Given the description of an element on the screen output the (x, y) to click on. 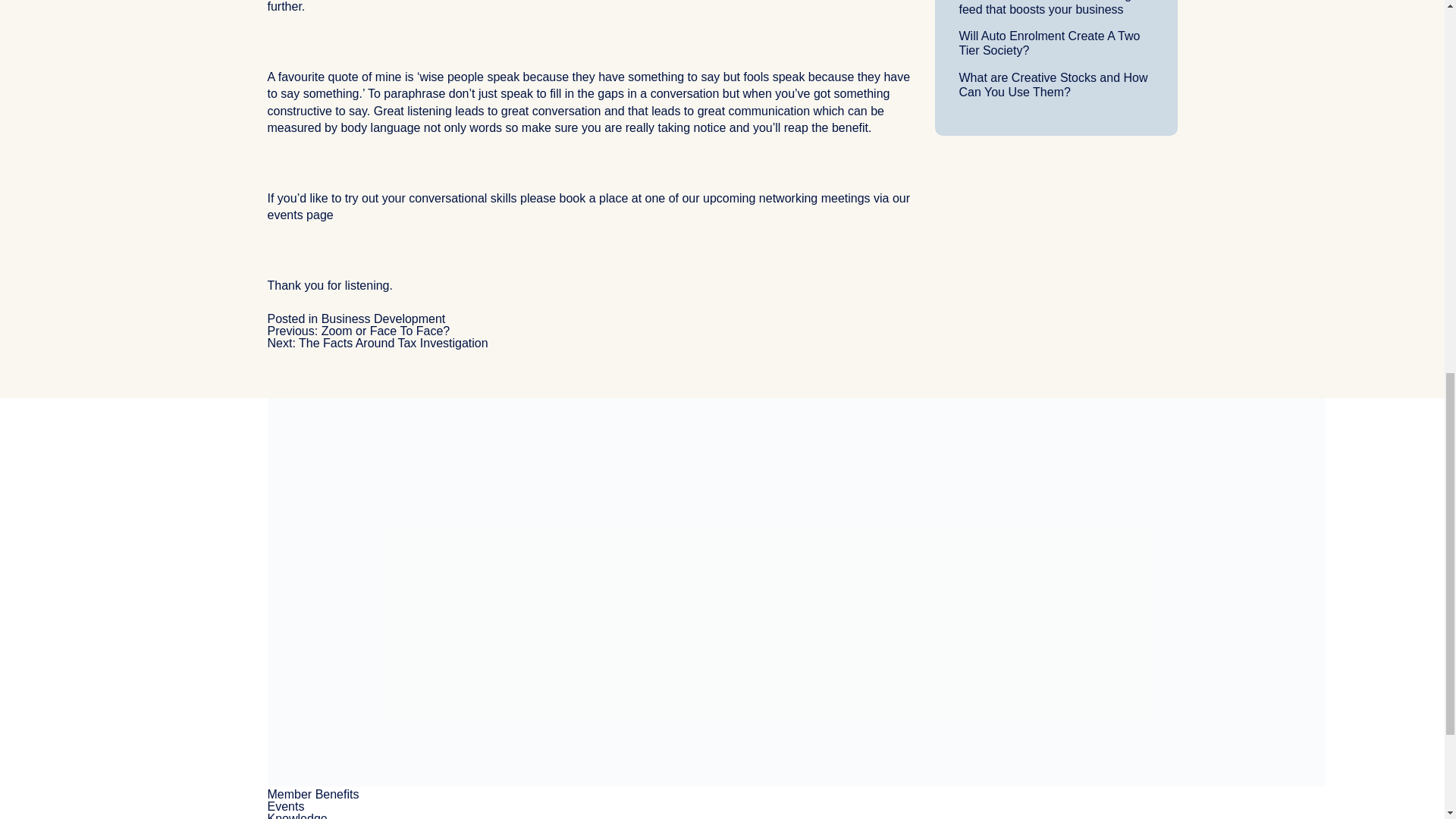
Business Development (383, 318)
